Given the description of an element on the screen output the (x, y) to click on. 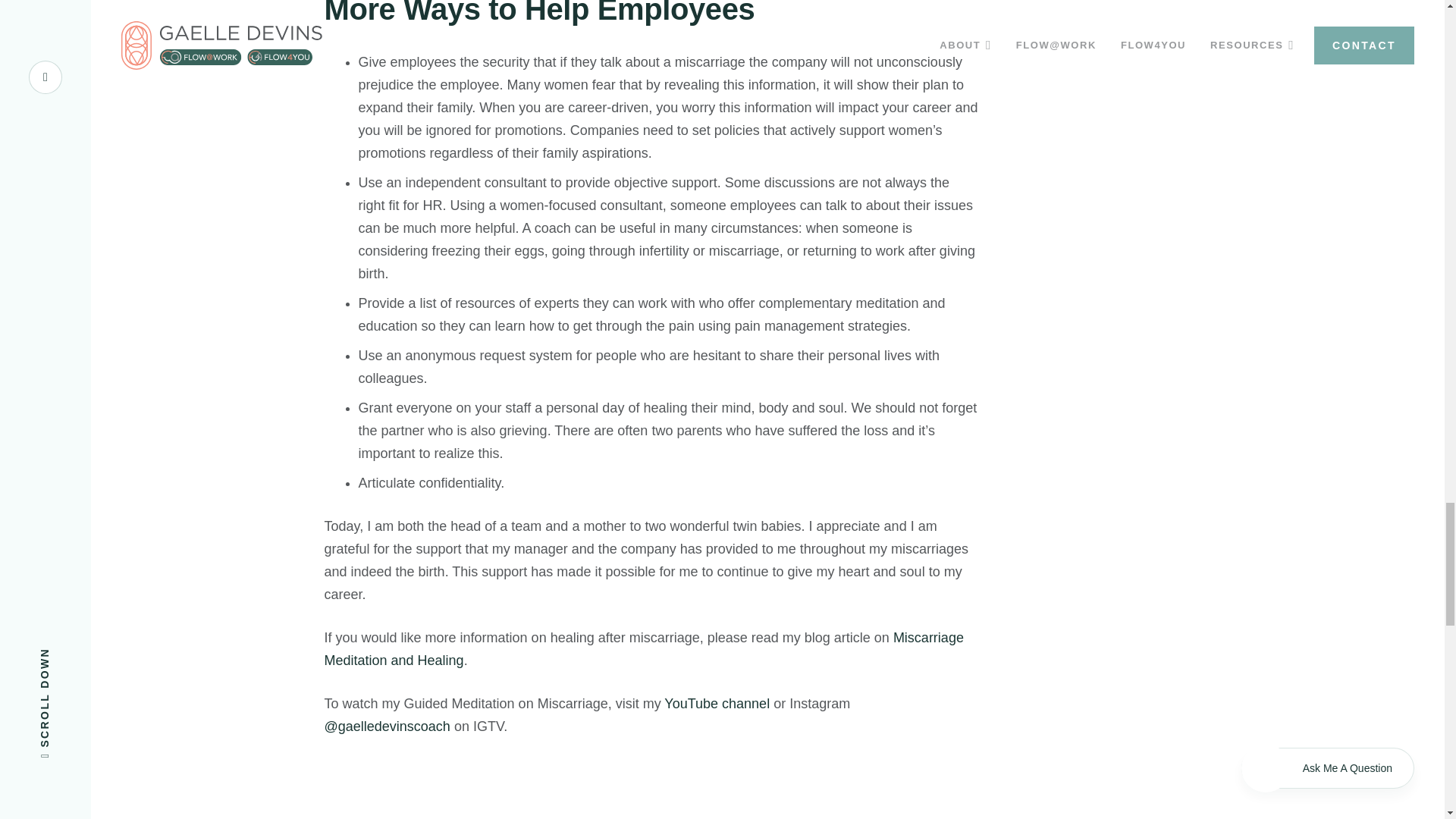
Miscarriage Meditation and Healing (643, 648)
YouTube channel (716, 703)
Miscarriage Meditation: Find healing in hope (506, 788)
